Given the description of an element on the screen output the (x, y) to click on. 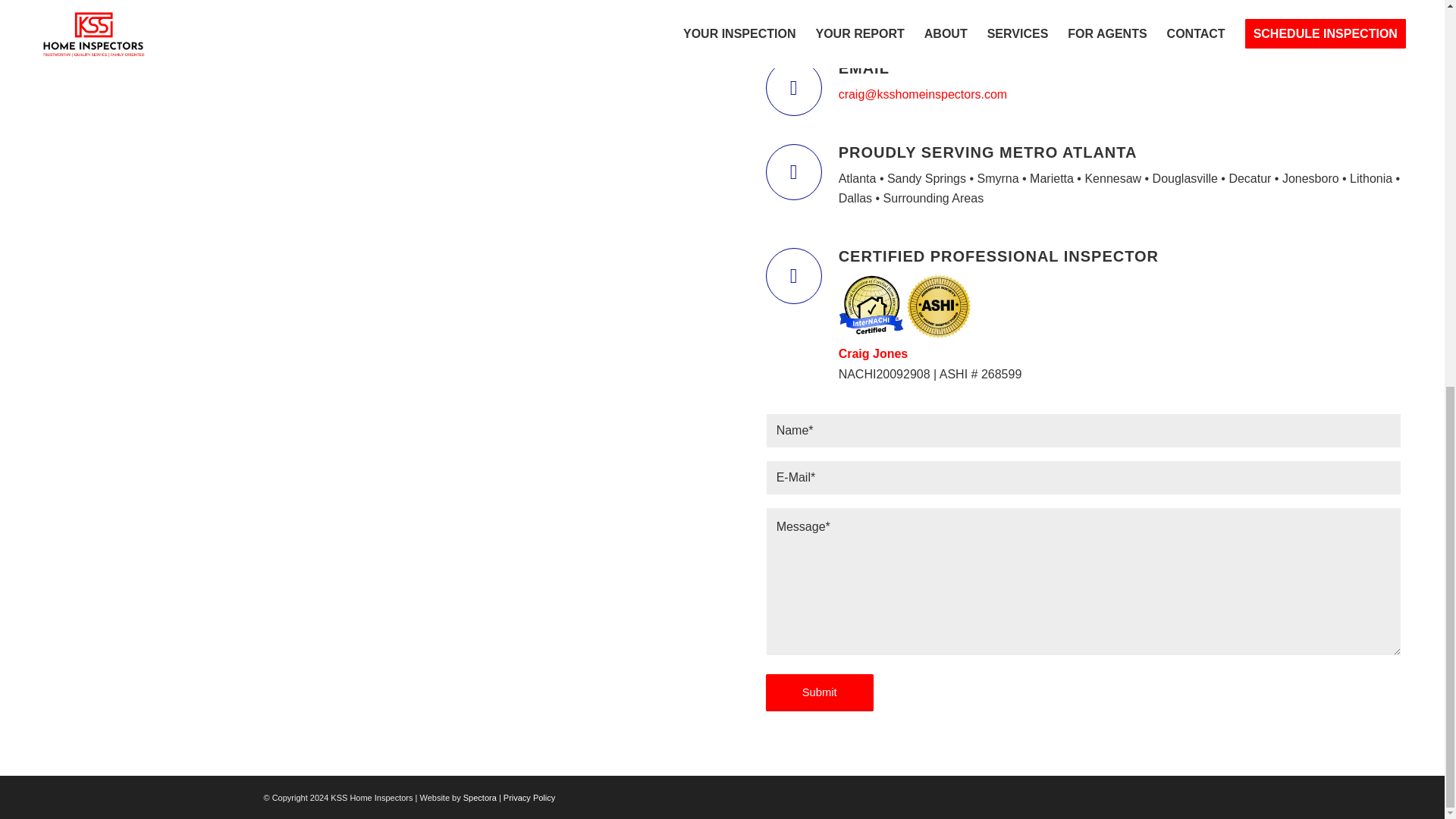
EMAIL (863, 67)
Call or Text (793, 23)
Submit (819, 692)
Submit (819, 692)
Spectora (481, 797)
678.755.1721 (875, 24)
Email (863, 67)
Call or Text (898, 3)
Email (793, 87)
CALL OR TEXT (898, 3)
Privacy Policy (528, 797)
